Given the description of an element on the screen output the (x, y) to click on. 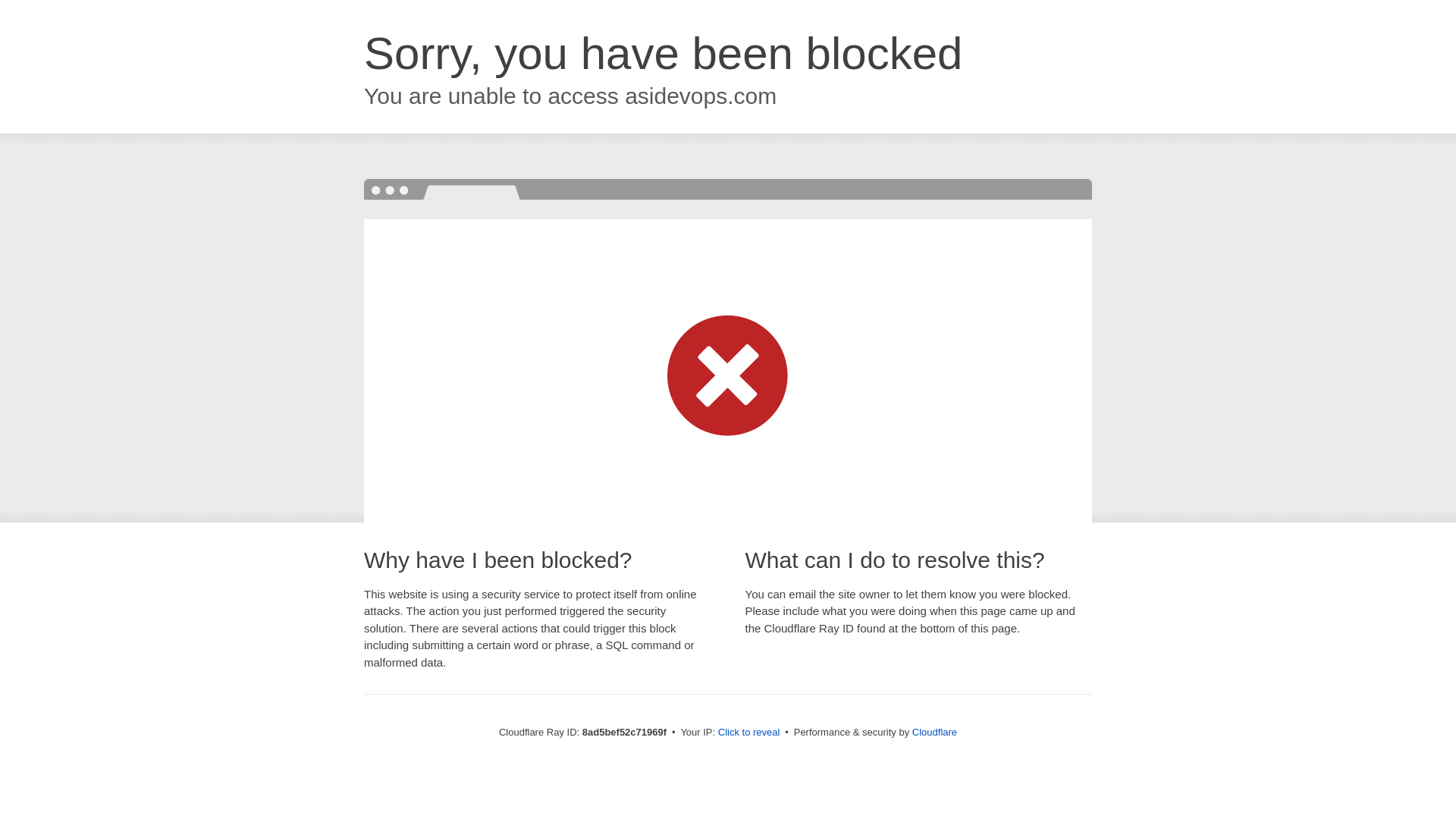
Cloudflare (934, 731)
Click to reveal (748, 732)
